Given the description of an element on the screen output the (x, y) to click on. 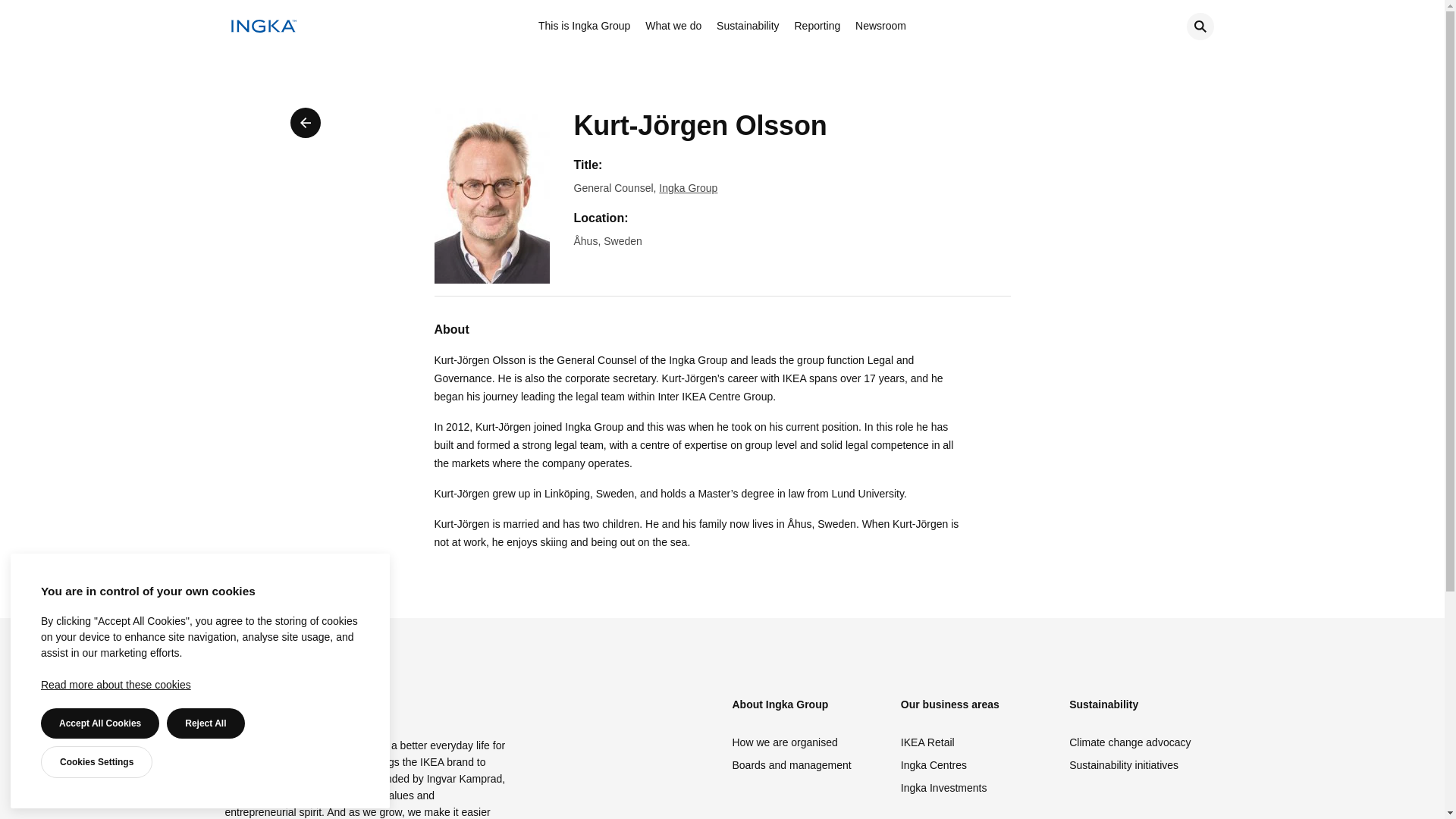
What we do (673, 26)
Reporting (818, 26)
Sustainability (748, 26)
Newsroom (880, 26)
Ingka Group (688, 187)
This is Ingka Group (584, 26)
